Given the description of an element on the screen output the (x, y) to click on. 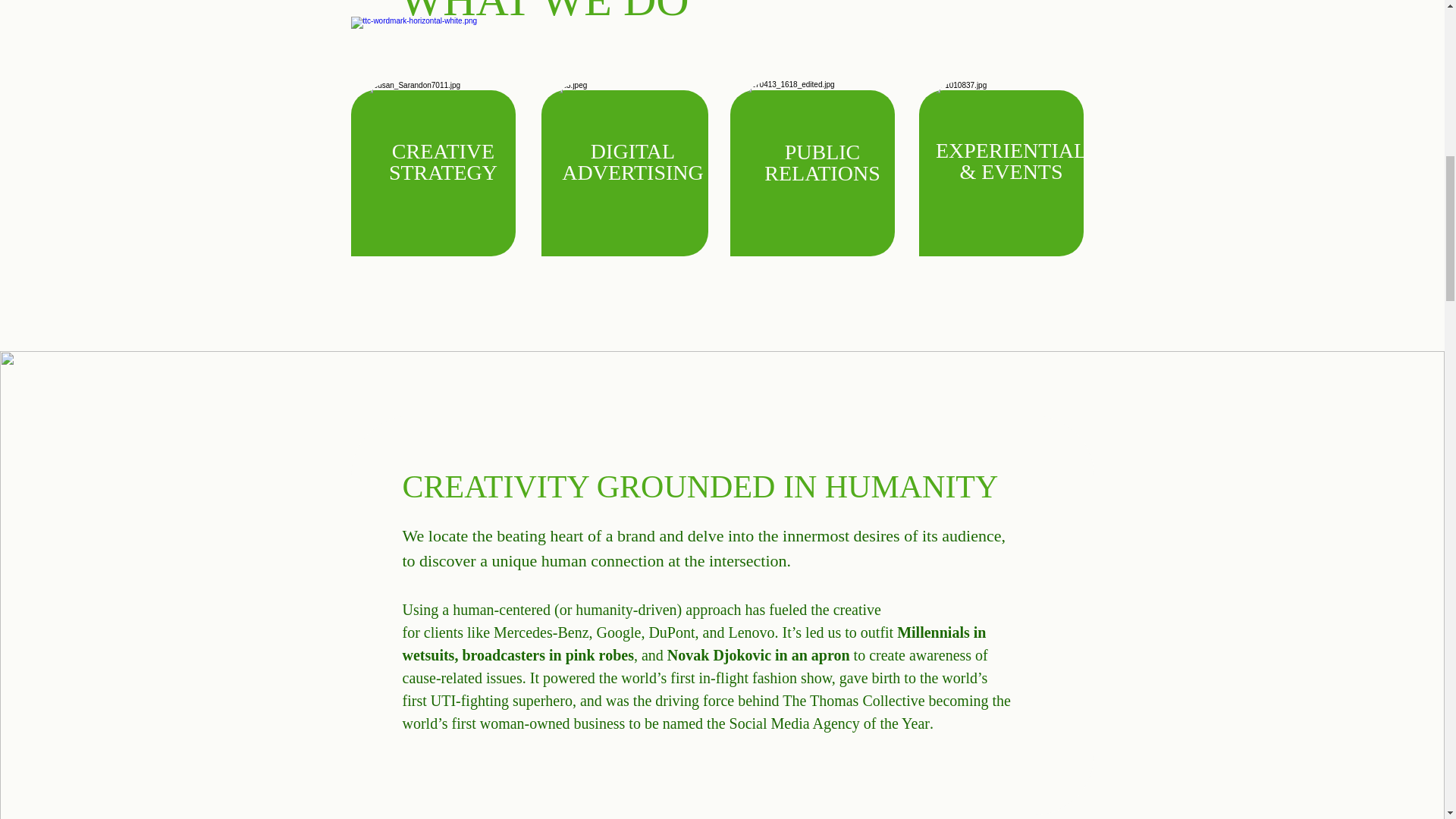
Screen Shot 2024-02-05 at 11.55.18 AM.pn (633, 164)
Screen Shot 2024-02-05 at 11.55.18 AM.pn (1011, 164)
Screen Shot 2024-02-05 at 11.55.18 AM.pn (444, 164)
Screen Shot 2024-02-05 at 11.55.18 AM.pn (821, 163)
